Given the description of an element on the screen output the (x, y) to click on. 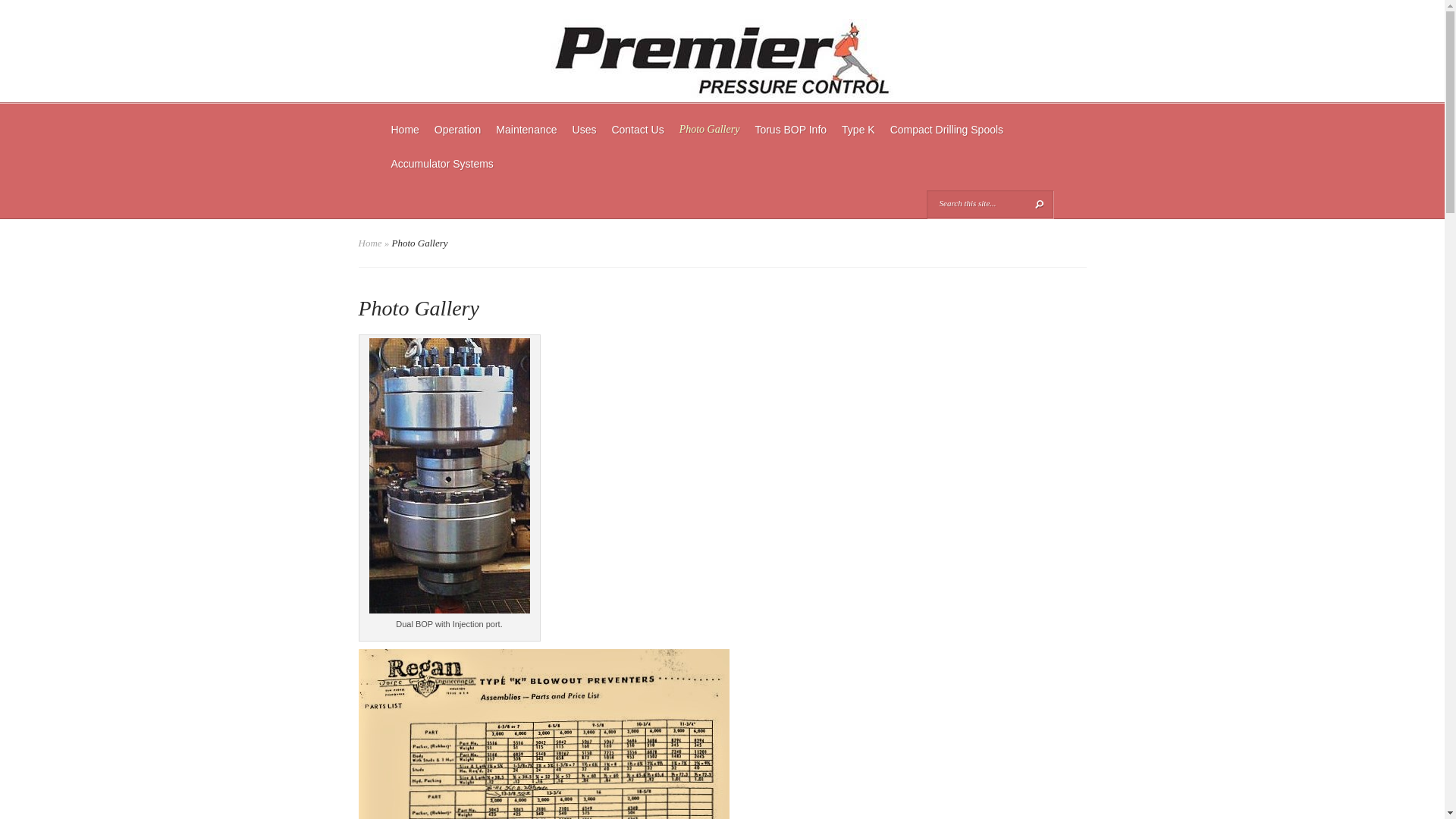
Contact Us (637, 139)
Home (369, 242)
Home (405, 139)
Uses (584, 139)
Operation (456, 139)
Maintenance (525, 139)
Compact Drilling Spools (946, 139)
Type K (858, 139)
Photo Gallery (709, 139)
Search this site... (979, 203)
